Given the description of an element on the screen output the (x, y) to click on. 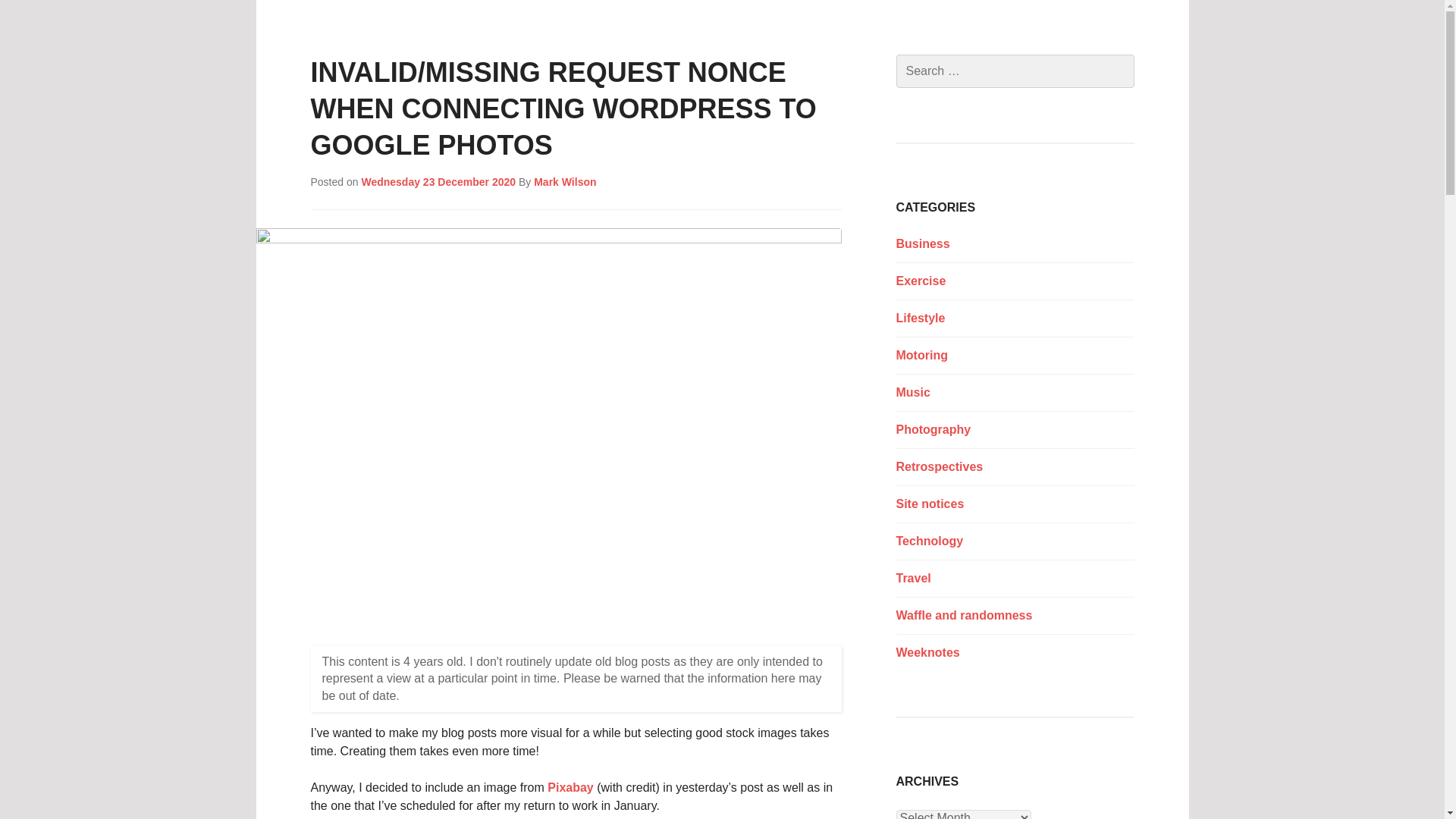
Travel (913, 577)
Retrospectives (940, 466)
Lifestyle (920, 318)
Mark Wilson (564, 182)
Weeknotes (927, 652)
Wednesday 23 December 2020 (438, 182)
Technology (929, 540)
Motoring (921, 354)
Music (913, 391)
Pixabay (569, 787)
